Given the description of an element on the screen output the (x, y) to click on. 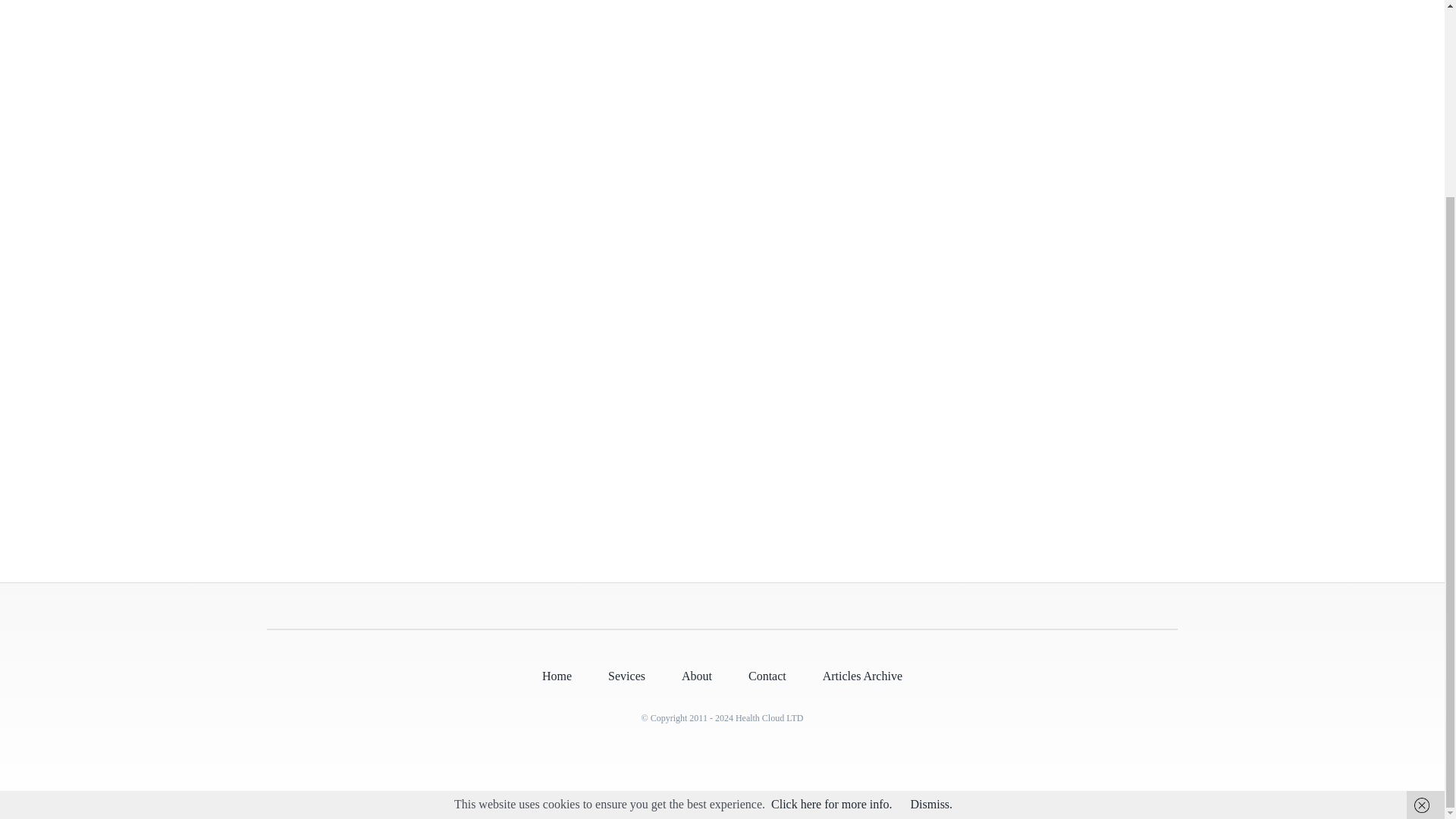
Contact (767, 676)
Sevices (626, 676)
Home (556, 676)
Articles Archive (862, 676)
Dismiss. (932, 554)
Click here for more info. (831, 554)
About (696, 676)
